Given the description of an element on the screen output the (x, y) to click on. 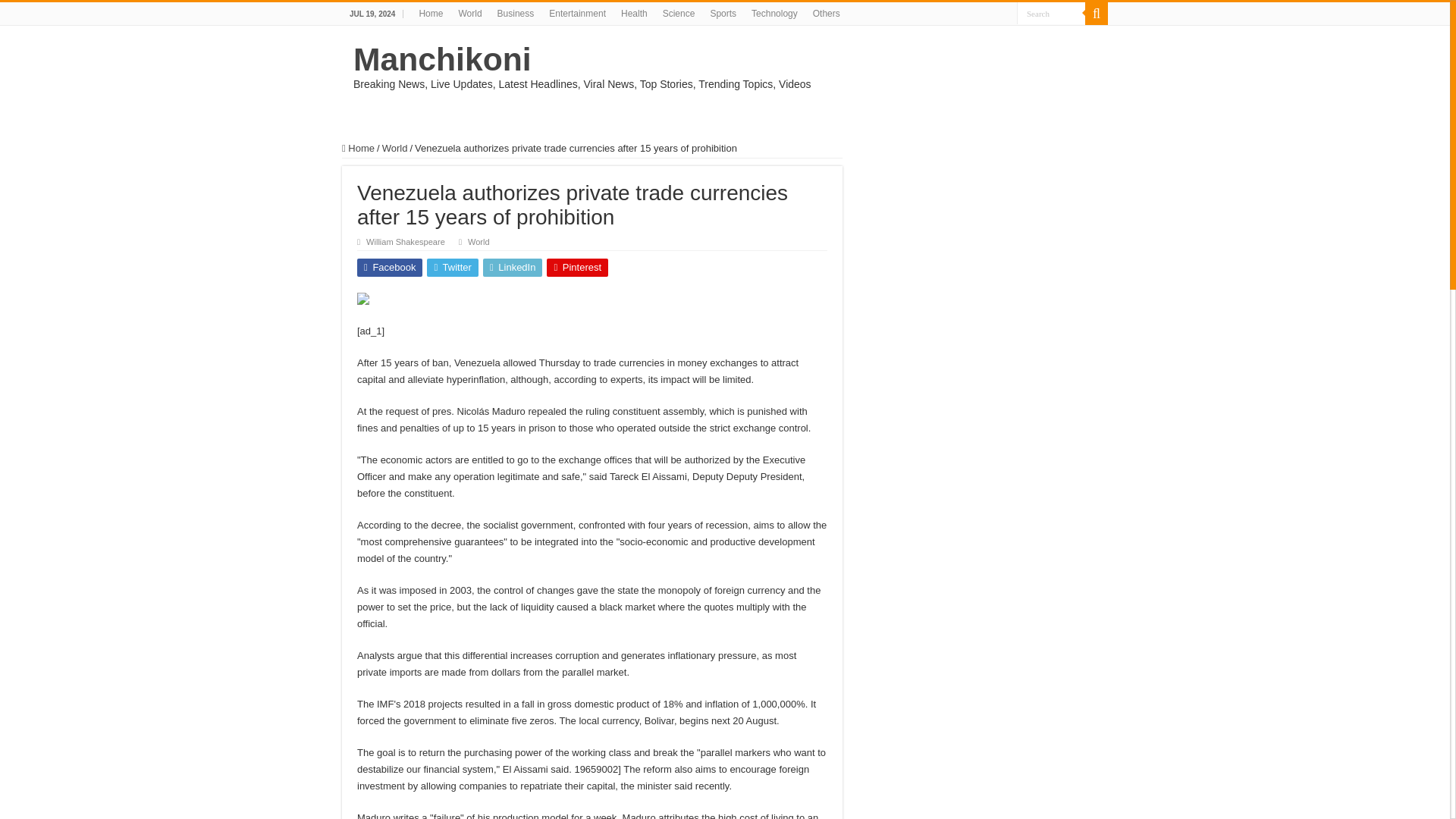
Science (679, 13)
Search (1096, 13)
William Shakespeare (405, 241)
Sports (722, 13)
Search (1050, 13)
Technology (774, 13)
Twitter (451, 267)
Entertainment (576, 13)
Business (515, 13)
Others (826, 13)
Manchikoni (442, 58)
World (394, 147)
Advertisement (1073, 248)
Home (358, 147)
Pinterest (577, 267)
